Given the description of an element on the screen output the (x, y) to click on. 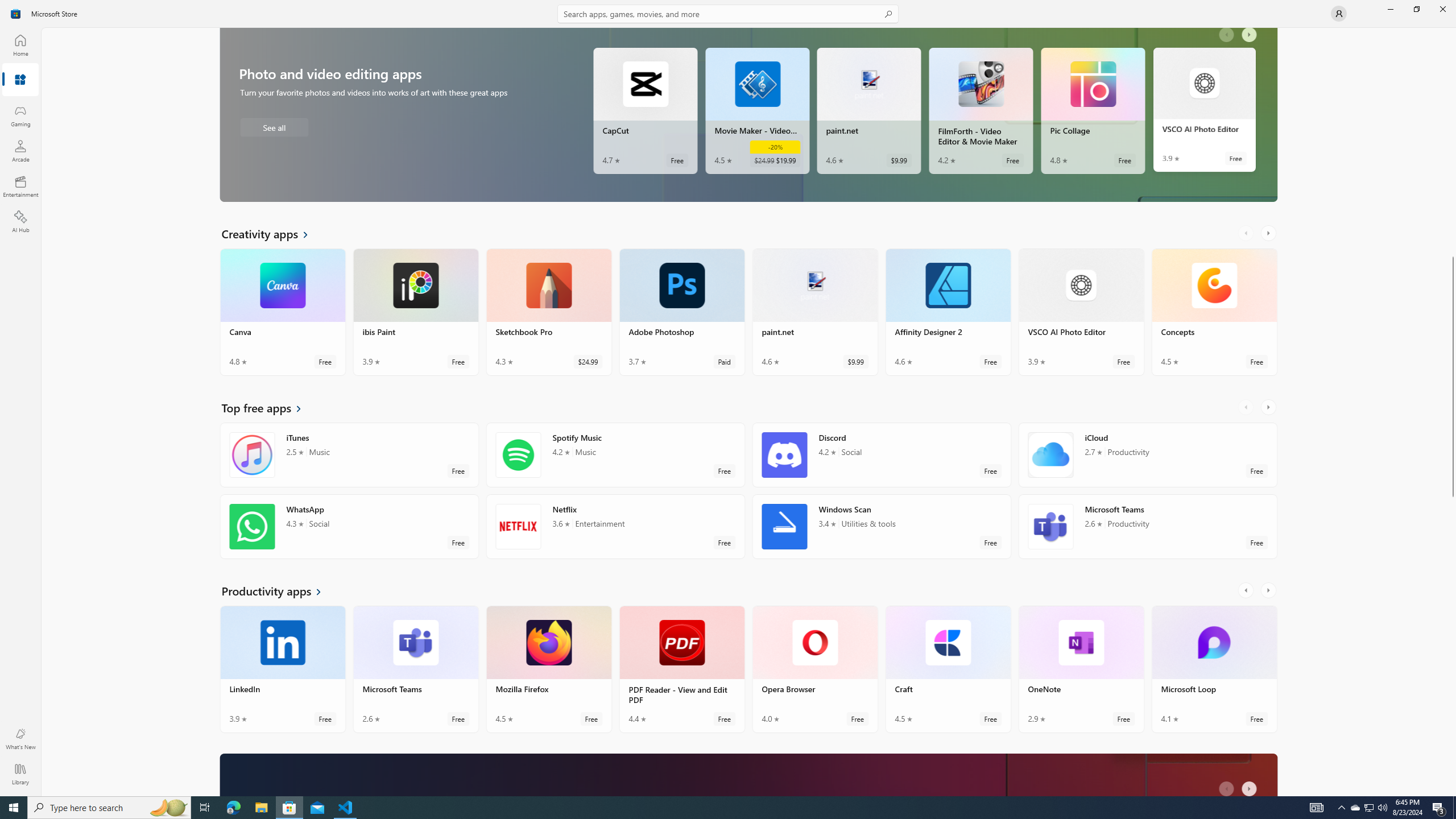
ibis Paint. Average rating of 3.9 out of five stars. Free   (415, 311)
AutomationID: LeftScrollButton (1227, 784)
What's New (20, 738)
AutomationID: RightScrollButton (1250, 784)
See all  Creativity apps (271, 233)
Entertainment (20, 185)
Apps (20, 80)
Screenshot 1 (1203, 164)
Discord. Average rating of 4.2 out of five stars. Free   (881, 454)
Arcade (20, 150)
